Given the description of an element on the screen output the (x, y) to click on. 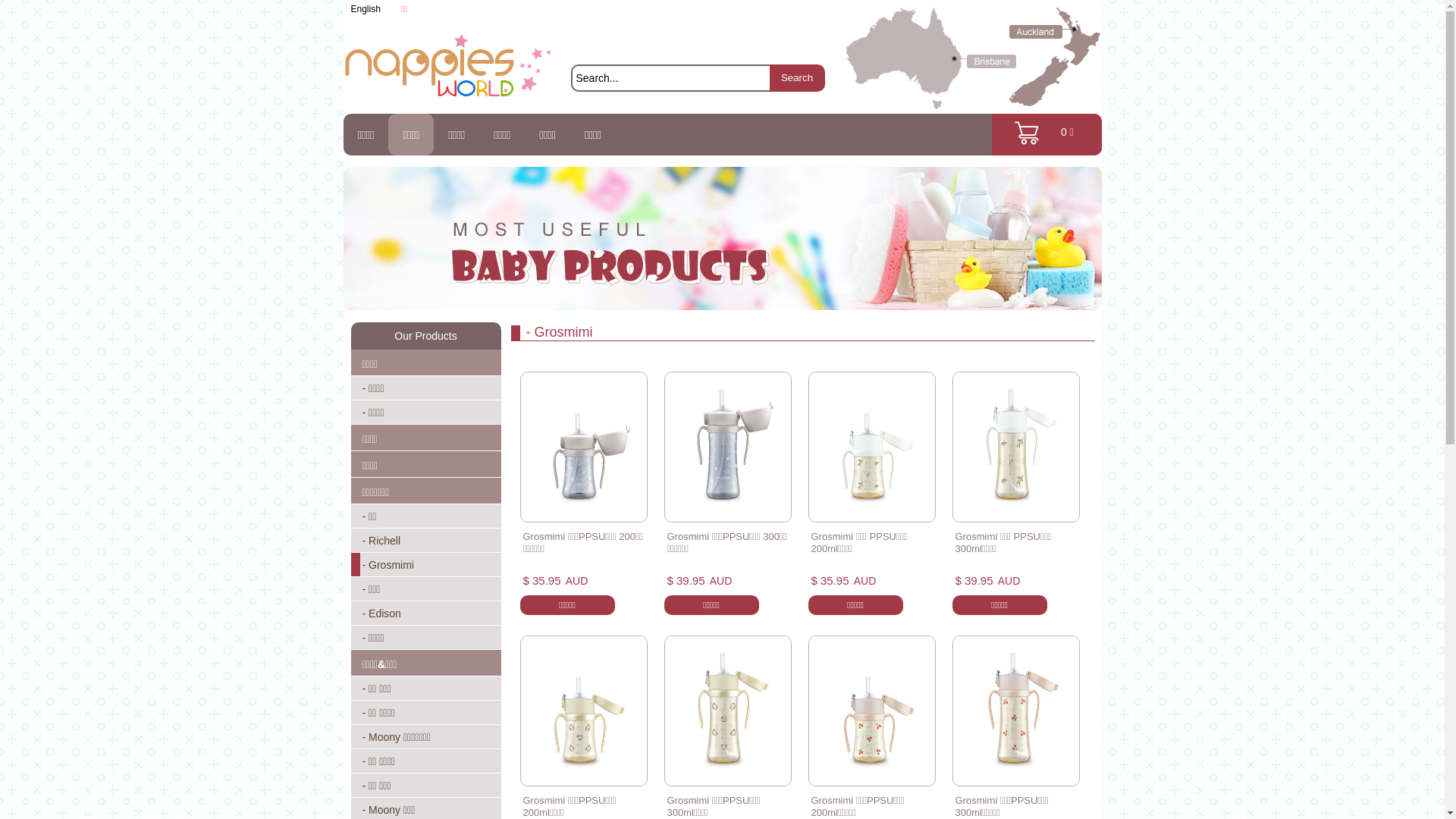
Search Element type: text (796, 77)
- Grosmimi Element type: text (425, 564)
English Element type: text (364, 9)
- Edison Element type: text (425, 613)
- Richell Element type: text (425, 540)
